Given the description of an element on the screen output the (x, y) to click on. 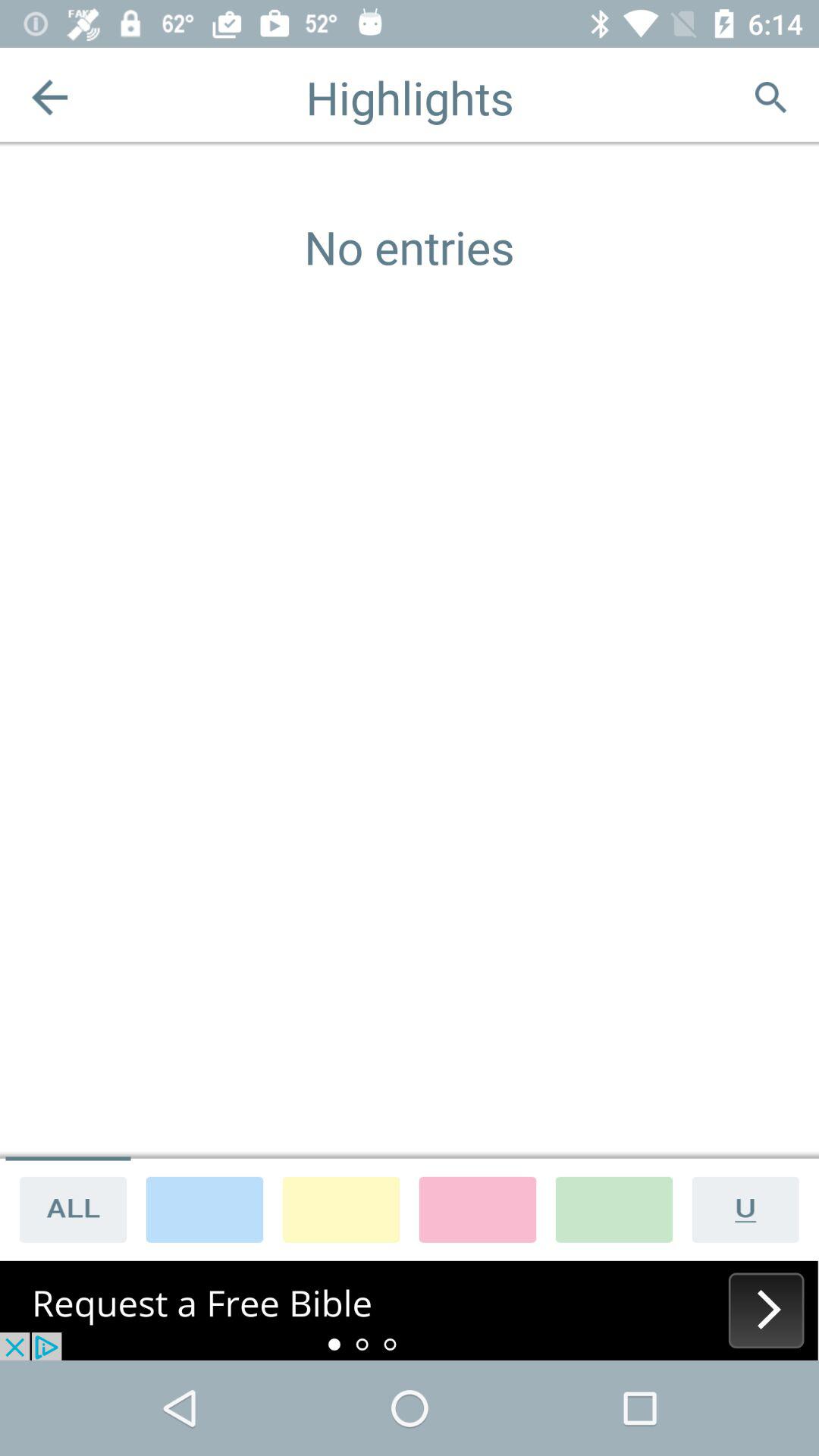
go to previous (49, 97)
